Given the description of an element on the screen output the (x, y) to click on. 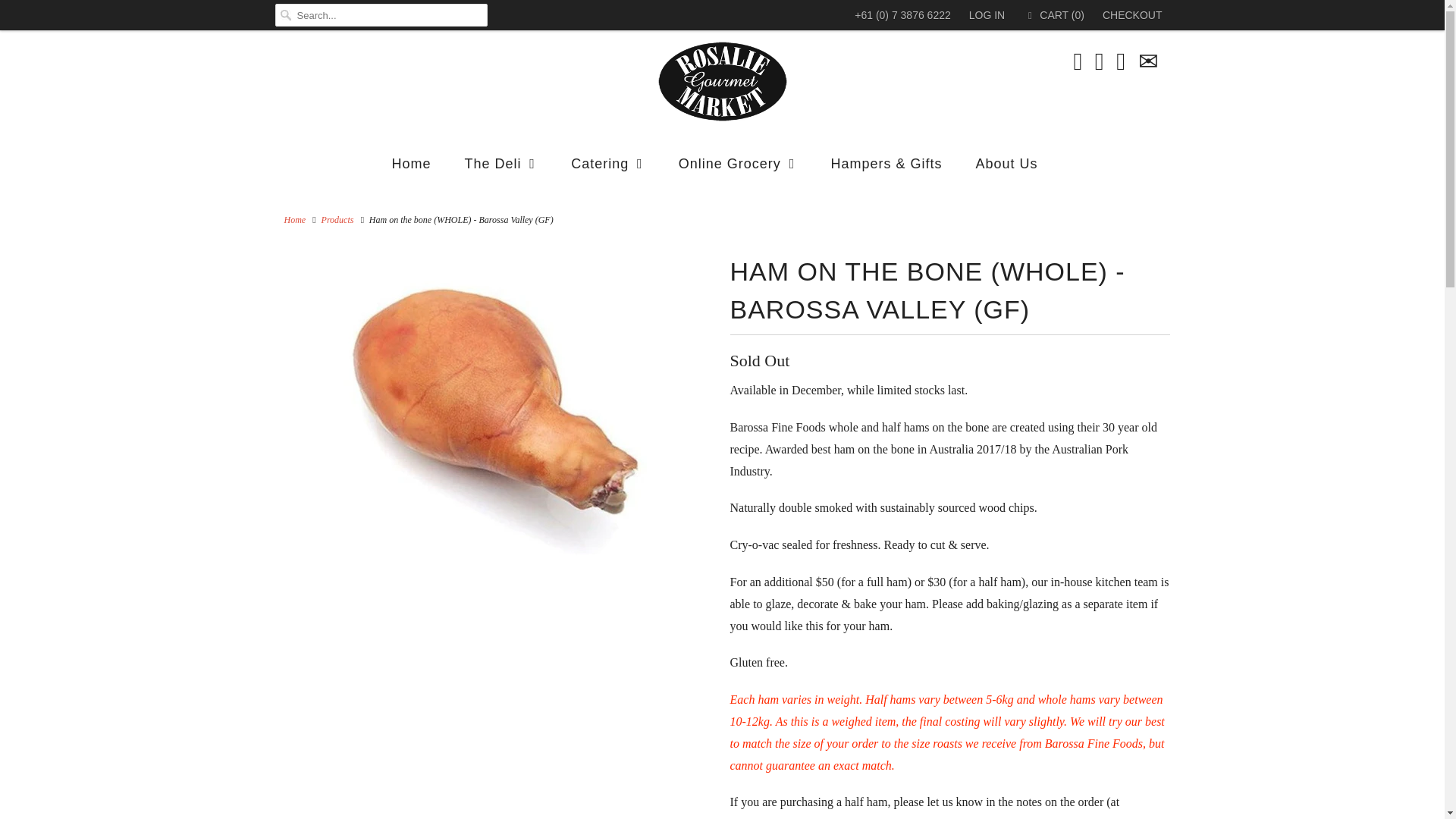
Ham on the bone - Barossa Valley - Rosalie Gourmet Market (494, 404)
Rosalie Gourmet Market (722, 81)
Products (337, 219)
Rosalie Gourmet Market (294, 219)
CHECKOUT (1131, 15)
LOG IN (986, 15)
